Given the description of an element on the screen output the (x, y) to click on. 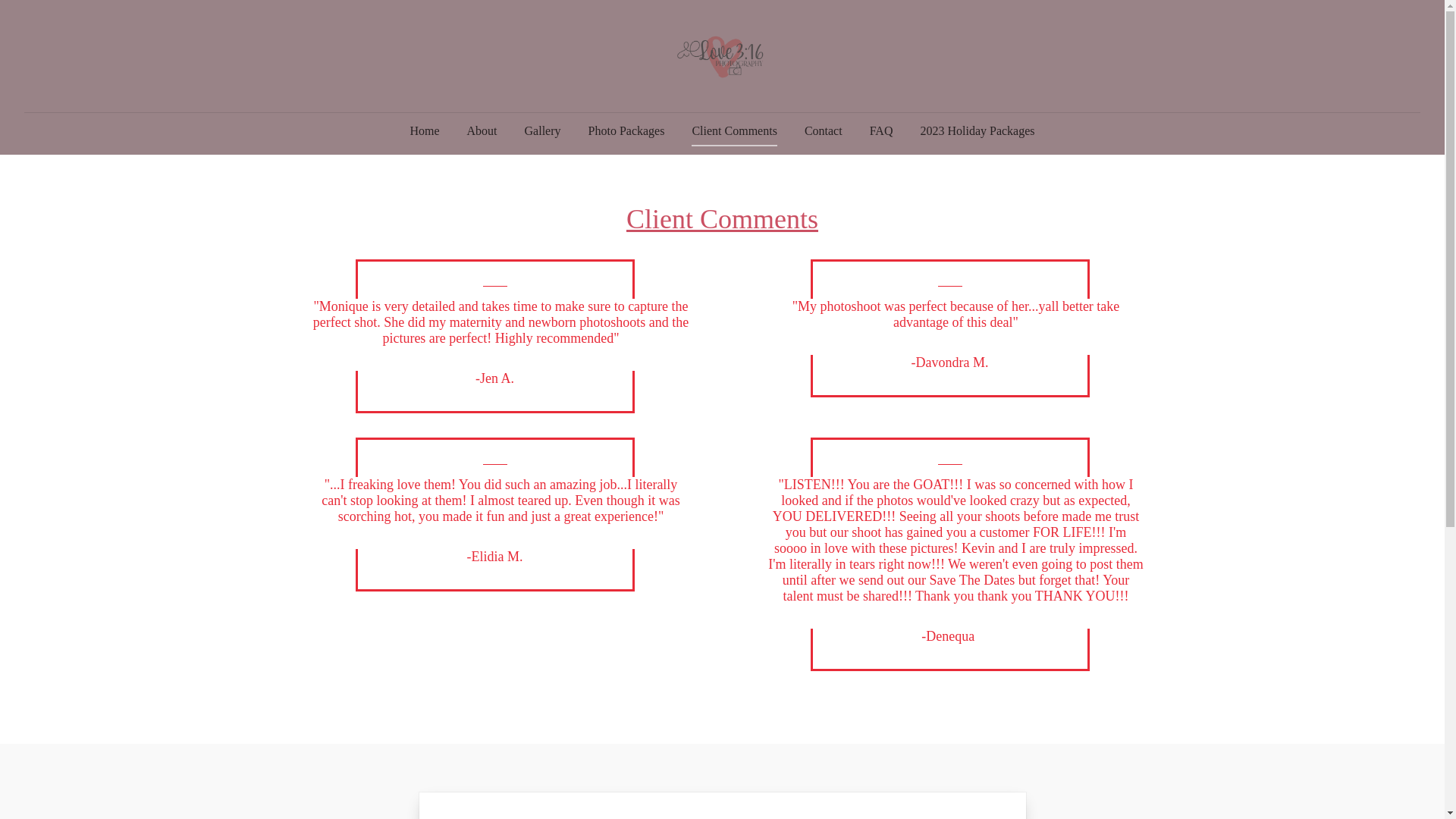
Photo Packages (626, 131)
FAQ (881, 131)
2023 Holiday Packages (976, 131)
Contact (823, 131)
Client Comments (734, 131)
Gallery (542, 131)
About (481, 131)
Home (424, 131)
